Given the description of an element on the screen output the (x, y) to click on. 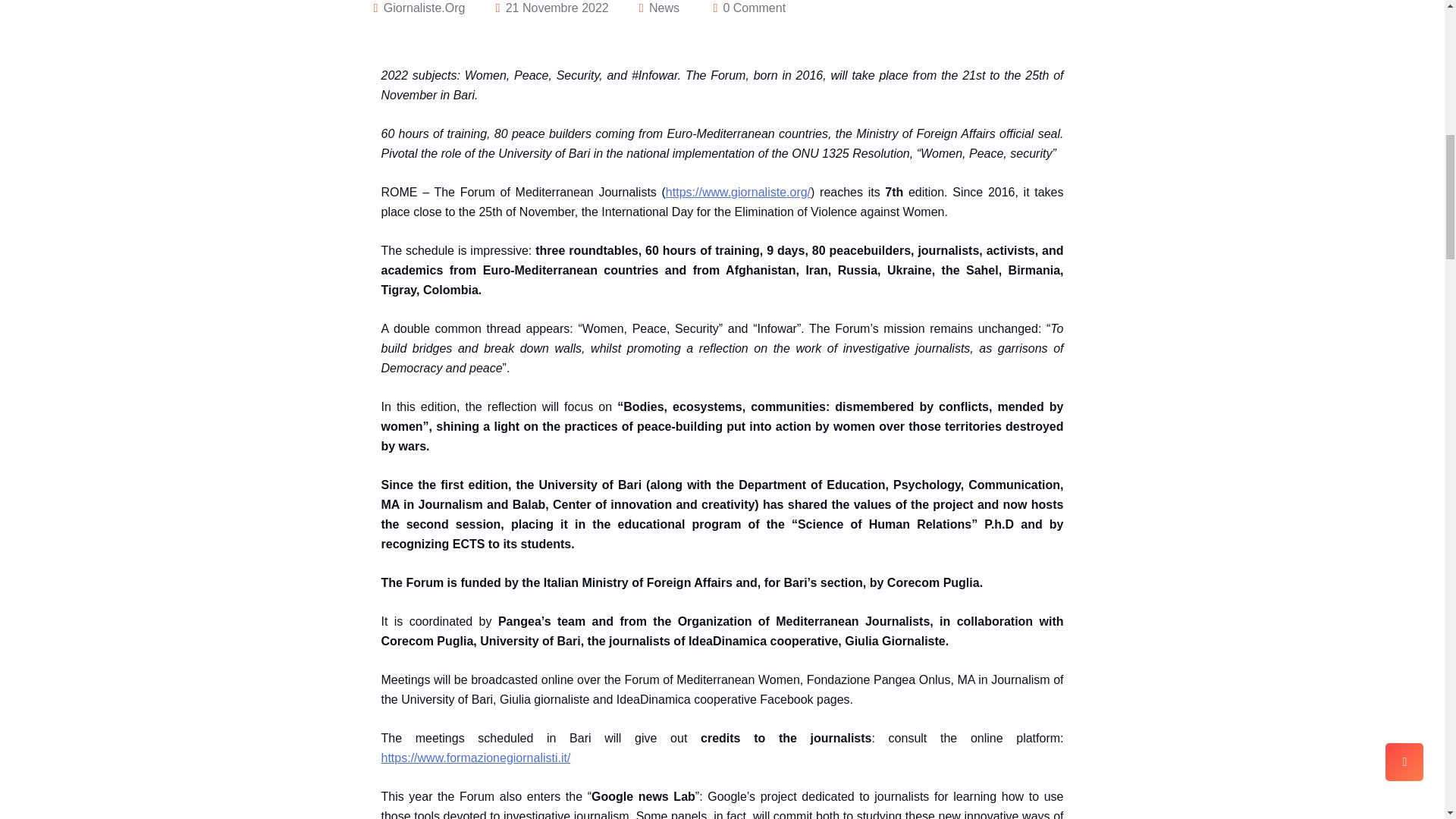
0 Comment (754, 9)
Giornaliste.Org (424, 9)
News (664, 9)
